Given the description of an element on the screen output the (x, y) to click on. 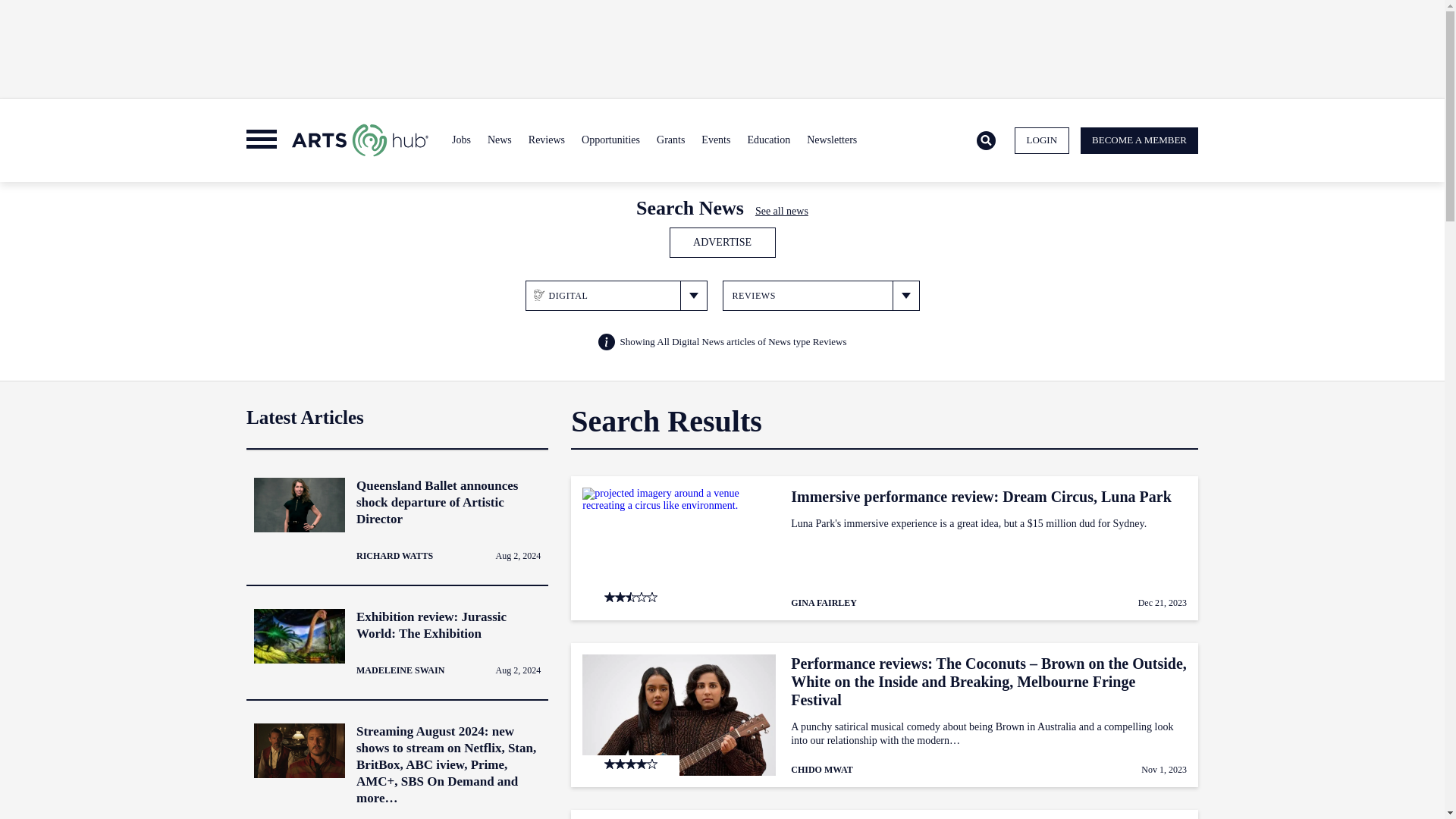
Search Icon (985, 140)
Events (715, 139)
Search Icon (985, 139)
LOGIN (1041, 140)
Newsletters (832, 139)
Jobs (461, 139)
Opportunities (610, 139)
Grants (670, 139)
News (498, 139)
Education (768, 139)
Reviews (546, 139)
BECOME A MEMBER (1139, 140)
